Given the description of an element on the screen output the (x, y) to click on. 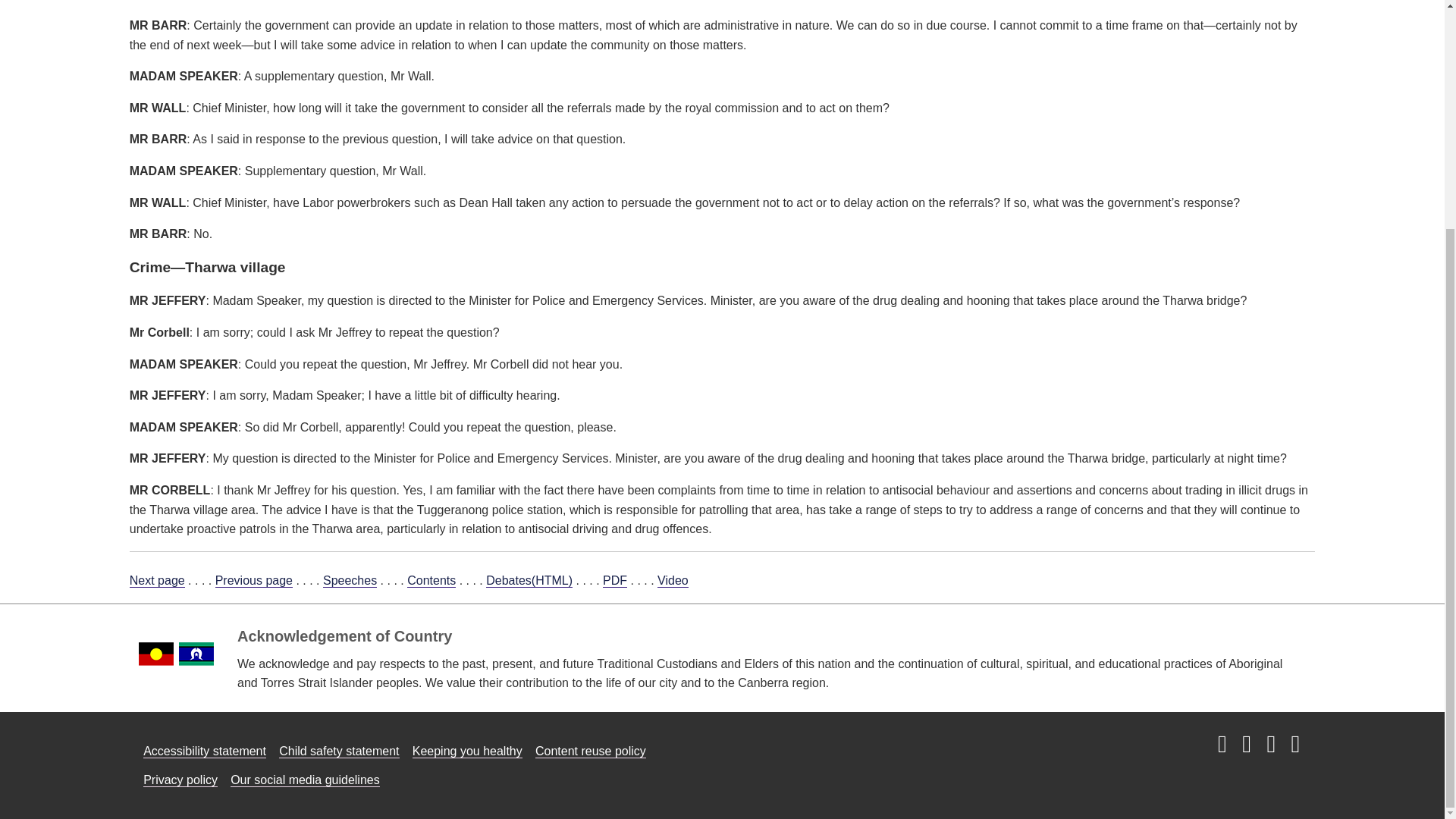
Child safety statement (338, 751)
Contents (431, 581)
PDF (614, 581)
Link to Facebook (1245, 745)
Our social media guidelines (305, 780)
Read about how we're keeping our Assembly healthy (467, 751)
Accessibility statement (204, 751)
Previous page (253, 581)
Read our social media guidelines (305, 780)
Link to Instagram (1222, 745)
Read our privacy policy (179, 780)
Privacy policy (179, 780)
Video (673, 581)
Read our access and inclusion statement (204, 751)
Content reuse policy (590, 751)
